Given the description of an element on the screen output the (x, y) to click on. 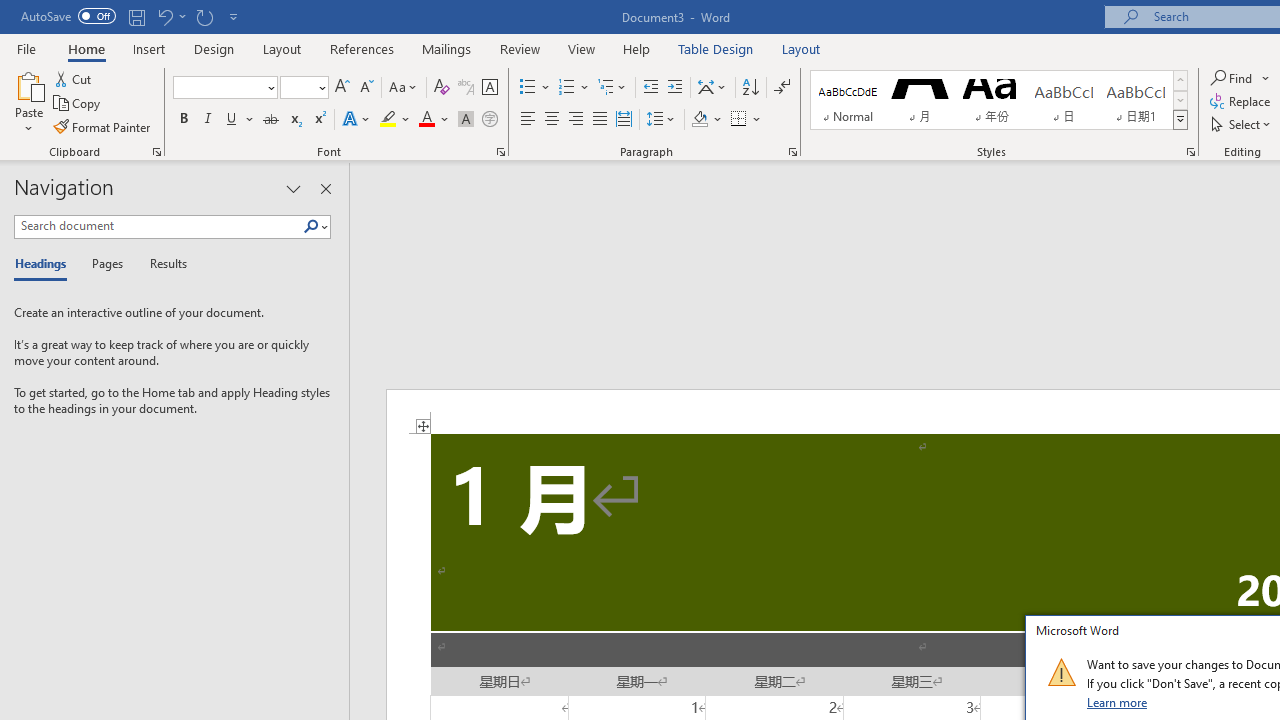
Decrease Indent (650, 87)
AutomationID: QuickStylesGallery (999, 99)
Change Case (404, 87)
View (582, 48)
Numbering (573, 87)
Font Size (304, 87)
Save (136, 15)
Asian Layout (712, 87)
Undo Apply Quick Style (170, 15)
Underline (239, 119)
Numbering (566, 87)
Line and Paragraph Spacing (661, 119)
Customize Quick Access Toolbar (234, 15)
More Options (1266, 78)
